Given the description of an element on the screen output the (x, y) to click on. 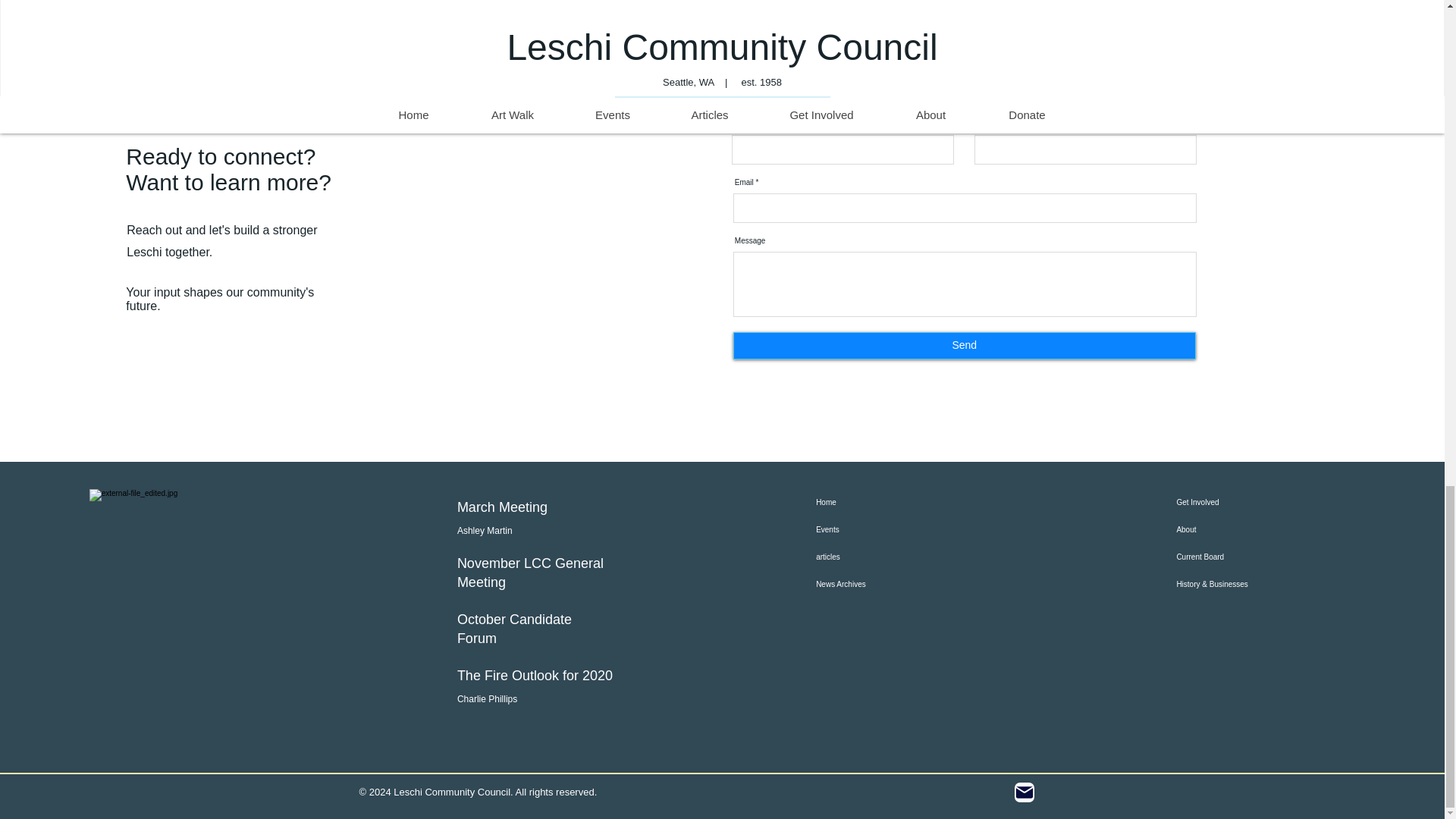
events (825, 2)
Charlie Phillips (486, 698)
Ashley Martin (484, 530)
